Given the description of an element on the screen output the (x, y) to click on. 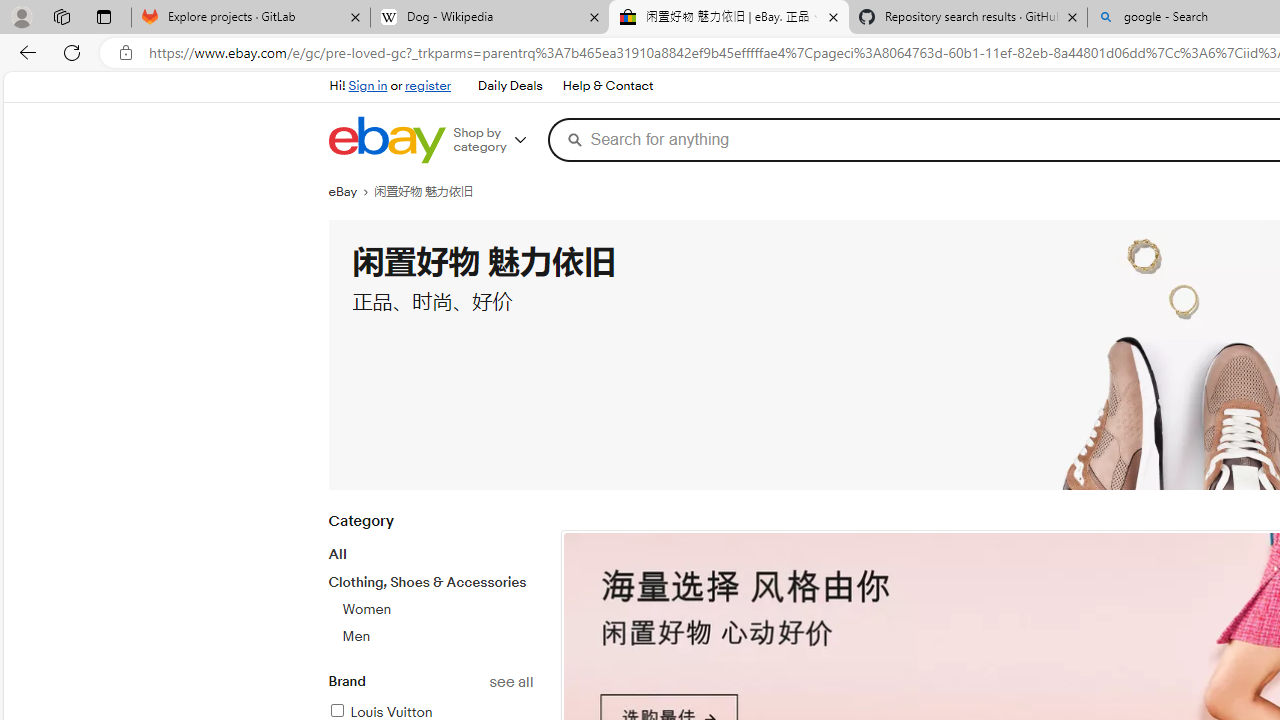
Women (366, 609)
Help & Contact (607, 86)
Clothing, Shoes & AccessoriesWomenMen (430, 609)
Dog - Wikipedia (490, 17)
Daily Deals (509, 85)
Women (437, 609)
AllClothing, Shoes & AccessoriesWomenMen (430, 595)
eBay Home (386, 139)
All (336, 554)
See all brand refinements (510, 682)
Help & Contact (606, 85)
